Given the description of an element on the screen output the (x, y) to click on. 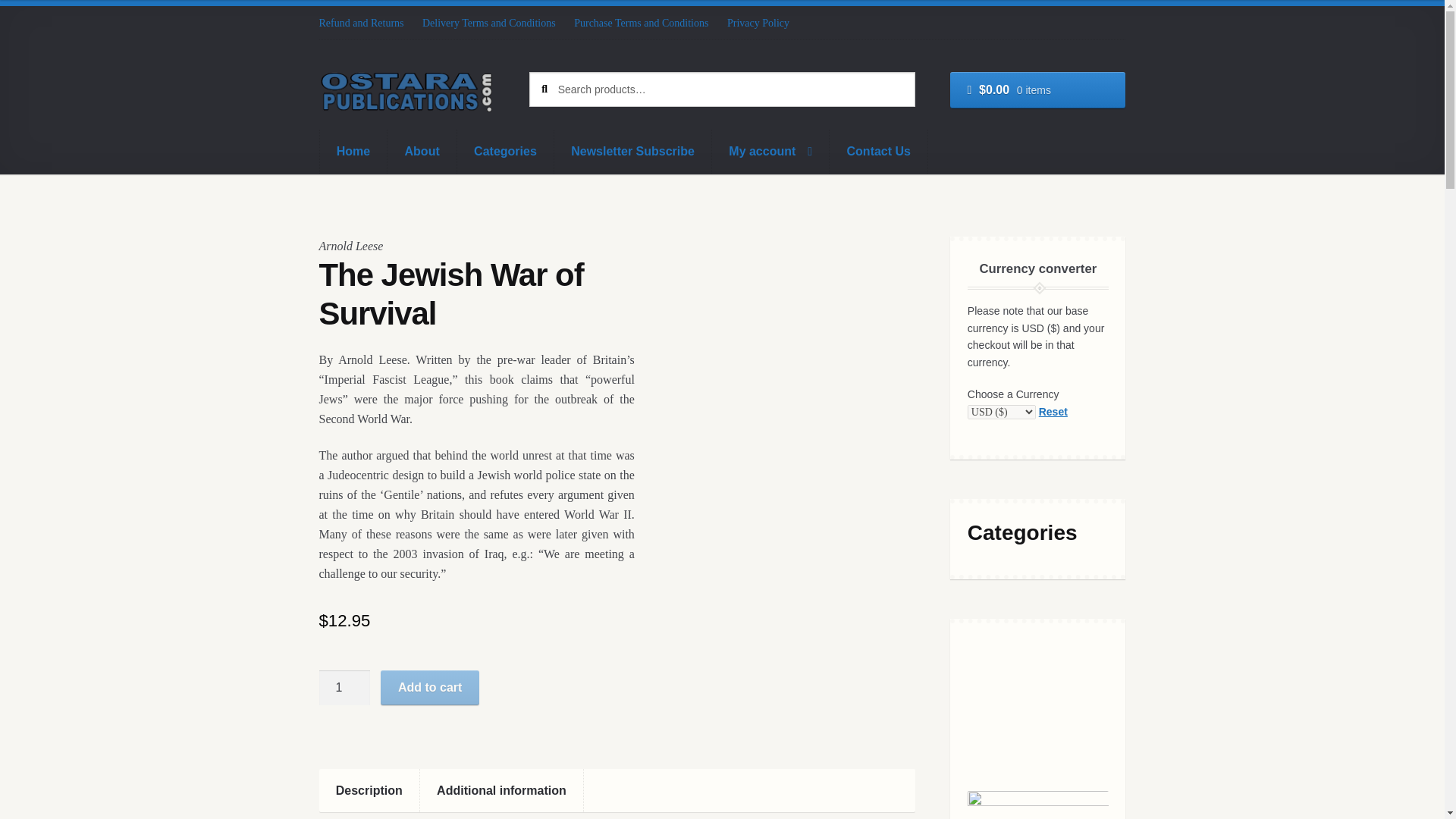
Categories (505, 151)
1 (344, 687)
Privacy Policy (758, 23)
About (422, 151)
Refund and Returns (365, 23)
Home (353, 151)
Purchase Terms and Conditions (640, 23)
My account (770, 151)
